Given the description of an element on the screen output the (x, y) to click on. 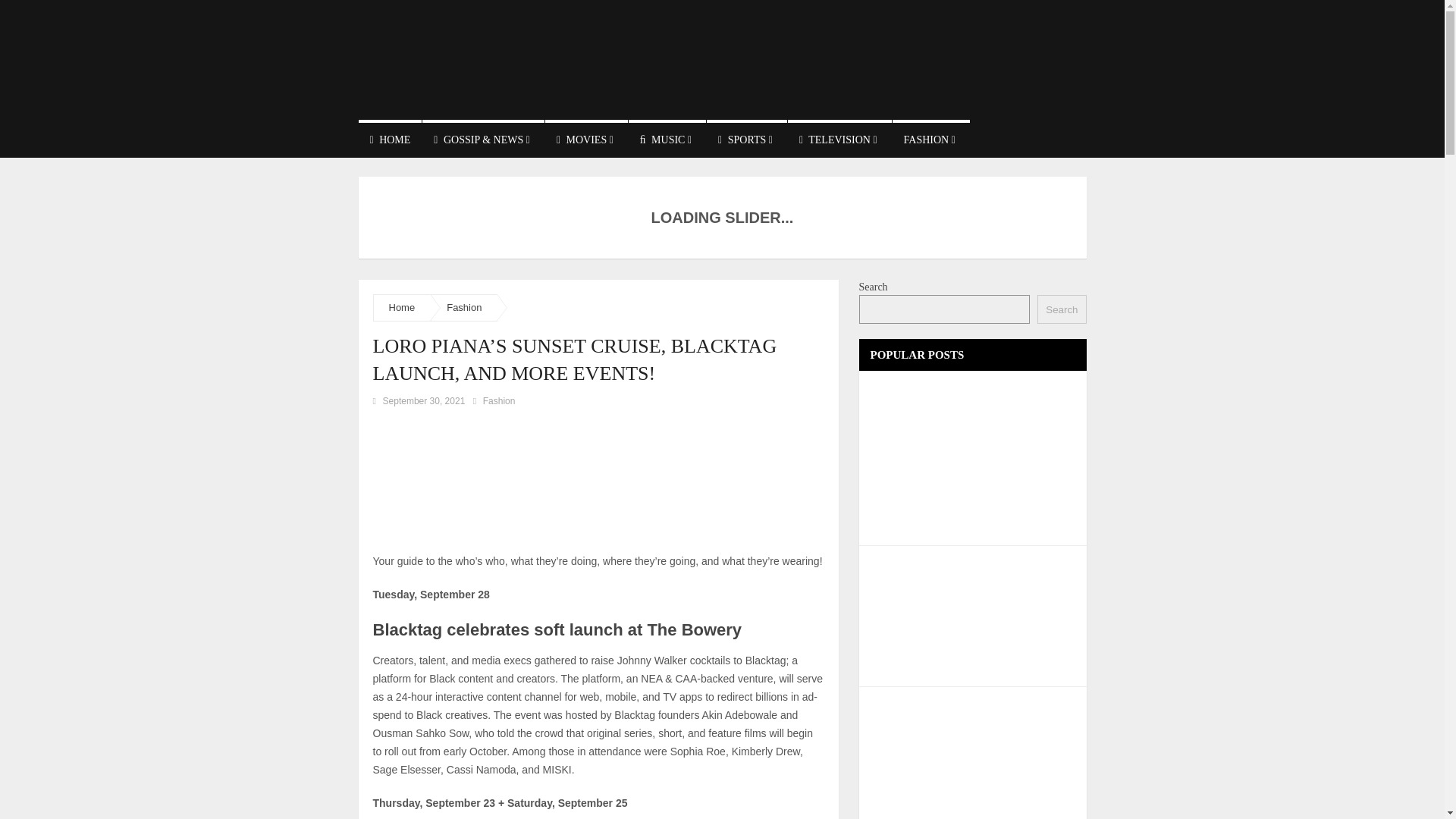
Fashion (463, 307)
Fashion (499, 400)
Home (401, 307)
MUSIC (667, 138)
HOME (390, 138)
FASHION (930, 138)
SPORTS (746, 138)
MOVIES (585, 138)
TELEVISION (839, 138)
